Given the description of an element on the screen output the (x, y) to click on. 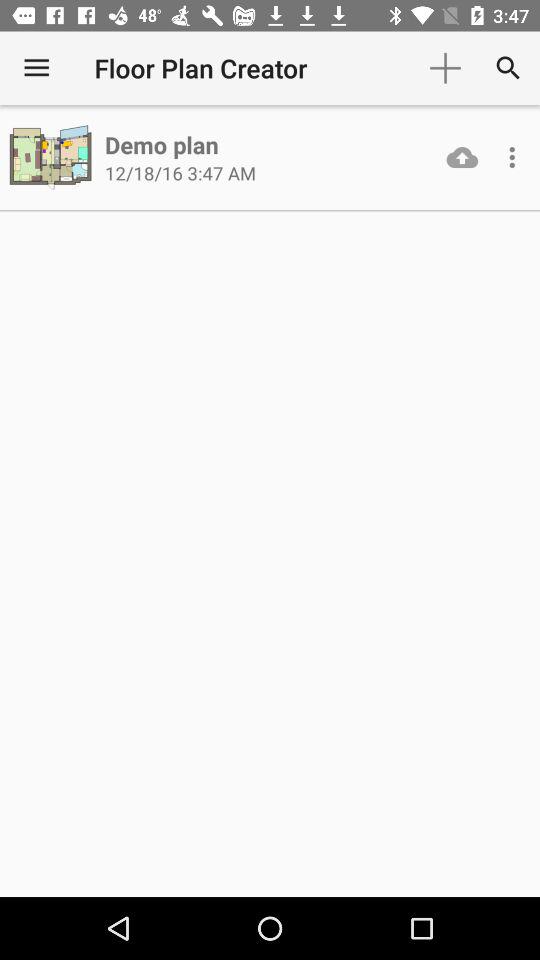
turn on the icon next to 12 18 16 item (462, 157)
